Given the description of an element on the screen output the (x, y) to click on. 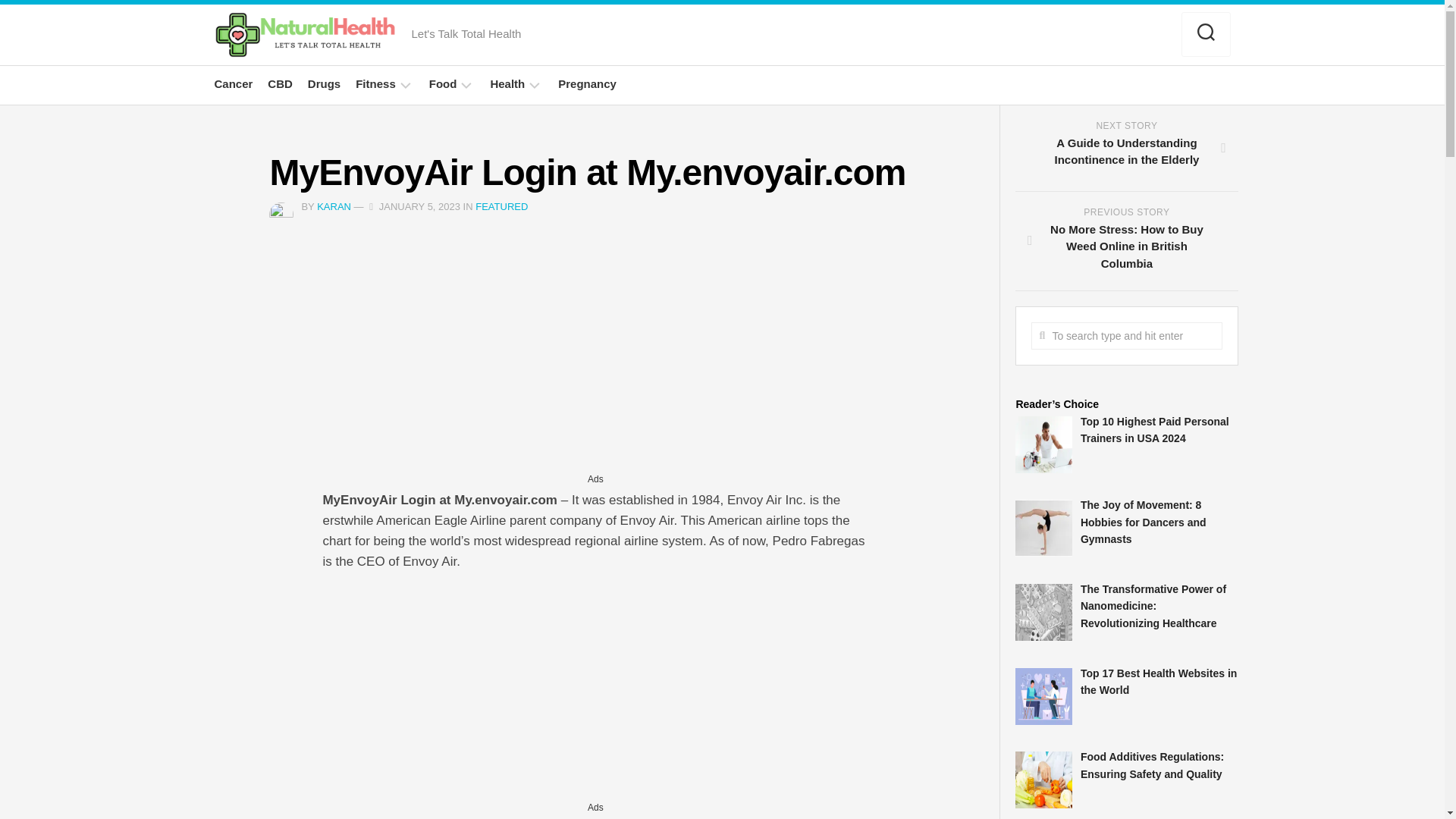
The Joy of Movement: 8 Hobbies for Dancers and Gymnasts (1143, 521)
Advertisement (594, 691)
Fitness (375, 83)
CBD (279, 83)
Advertisement (594, 363)
Drugs (323, 83)
FEATURED (501, 206)
To search type and hit enter (1125, 335)
Top 10 Highest Paid Personal Trainers in USA 2024 (1154, 430)
Food (443, 83)
Cancer (232, 83)
To search type and hit enter (1125, 335)
Health (506, 83)
